Given the description of an element on the screen output the (x, y) to click on. 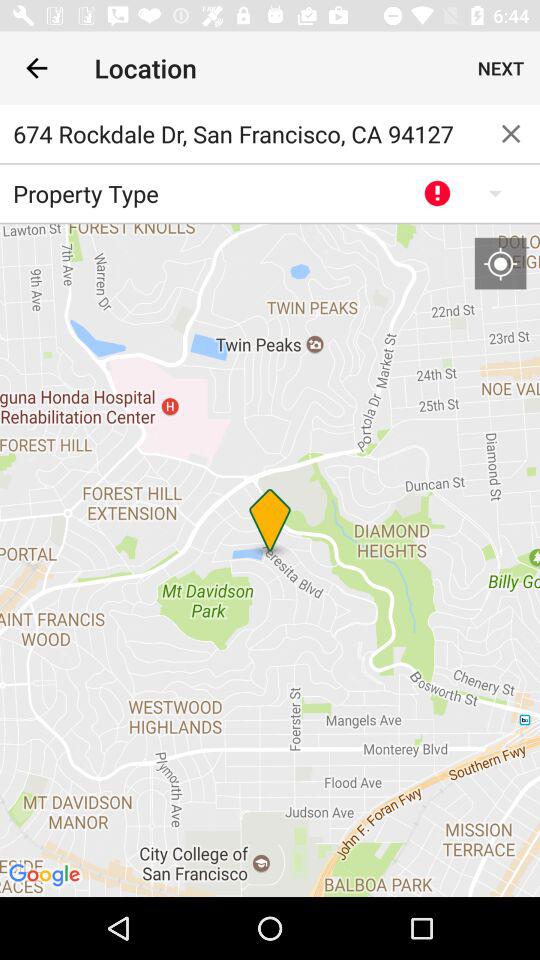
select the icon next to the location (36, 68)
